Given the description of an element on the screen output the (x, y) to click on. 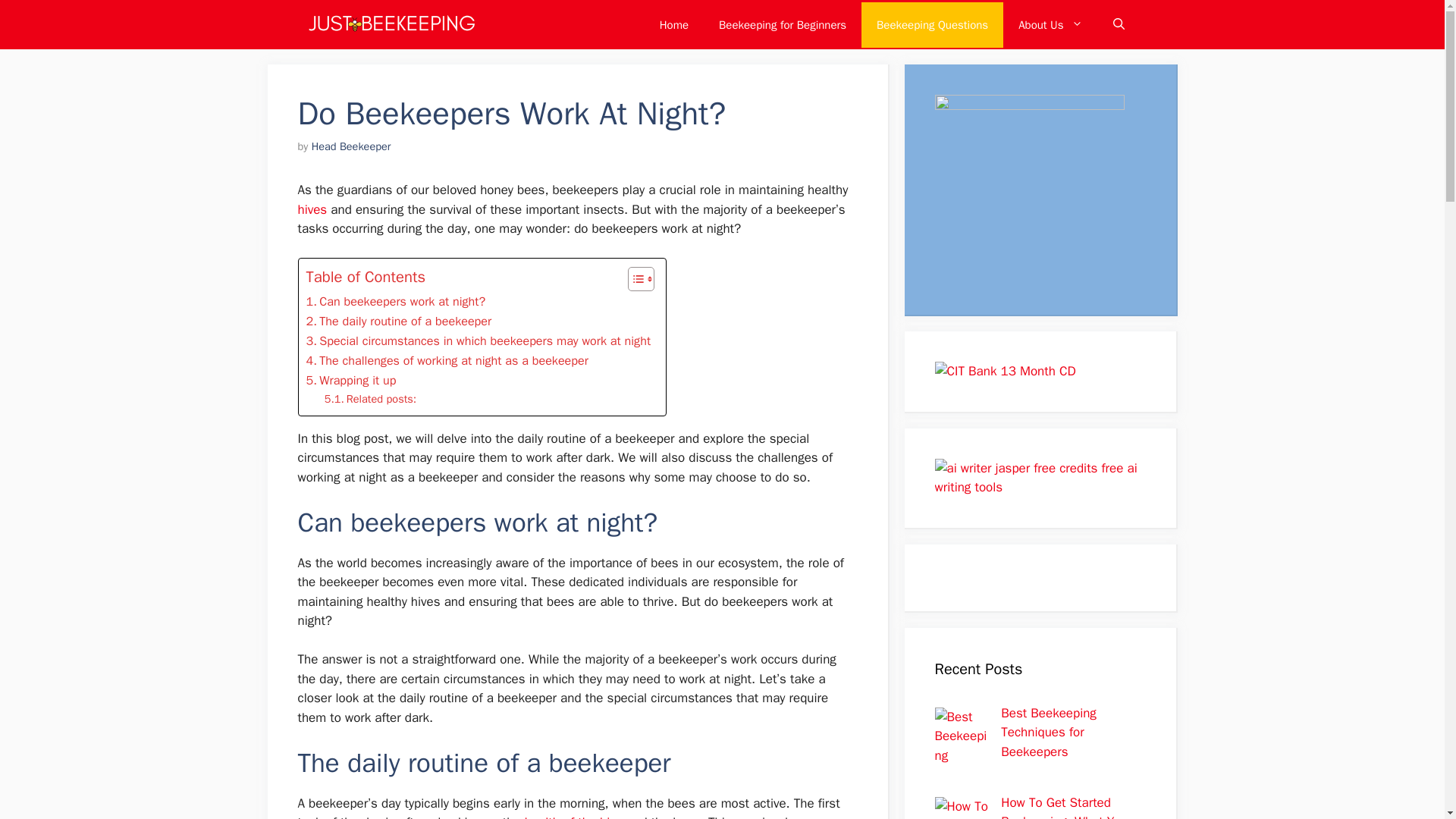
Just Beekeeping (390, 24)
Related posts: (370, 398)
View all posts by Head Beekeeper (351, 146)
The challenges of working at night as a beekeeper (446, 361)
Can beekeepers work at night? (395, 301)
Head Beekeeper (351, 146)
Can beekeepers work at night? (395, 301)
The daily routine of a beekeeper (398, 321)
health of the hive (573, 816)
Special circumstances in which beekeepers may work at night (477, 341)
Wrapping it up (350, 380)
The daily routine of a beekeeper (398, 321)
About Us (1050, 23)
The challenges of working at night as a beekeeper (446, 361)
Beekeeping Questions (932, 23)
